Given the description of an element on the screen output the (x, y) to click on. 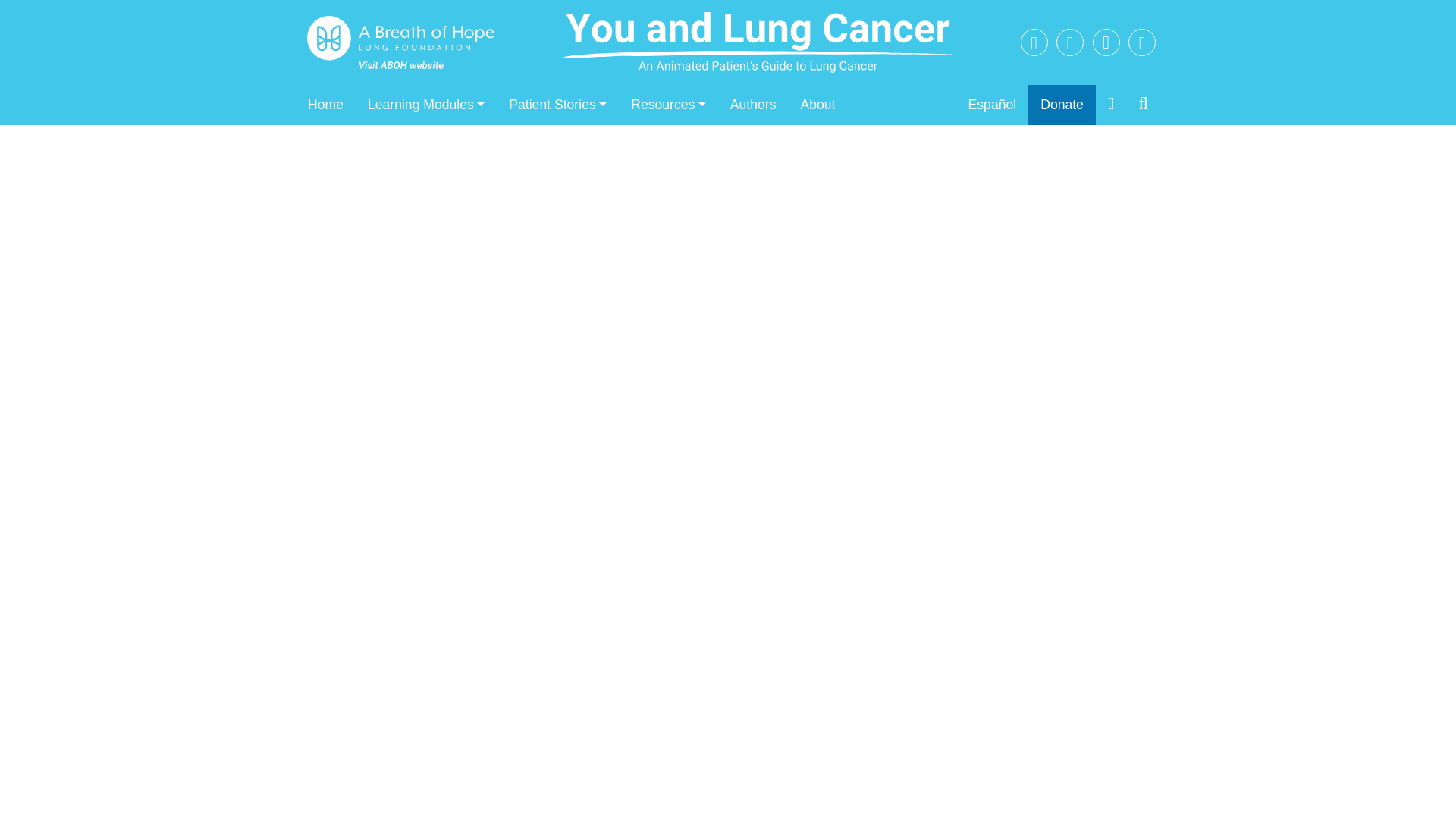
See us on Instagram (1106, 43)
Home (325, 105)
Learning Modules (425, 105)
Join us on Facebook (1070, 44)
See us on YouTube (1034, 44)
Follow us on X (1142, 44)
